Given the description of an element on the screen output the (x, y) to click on. 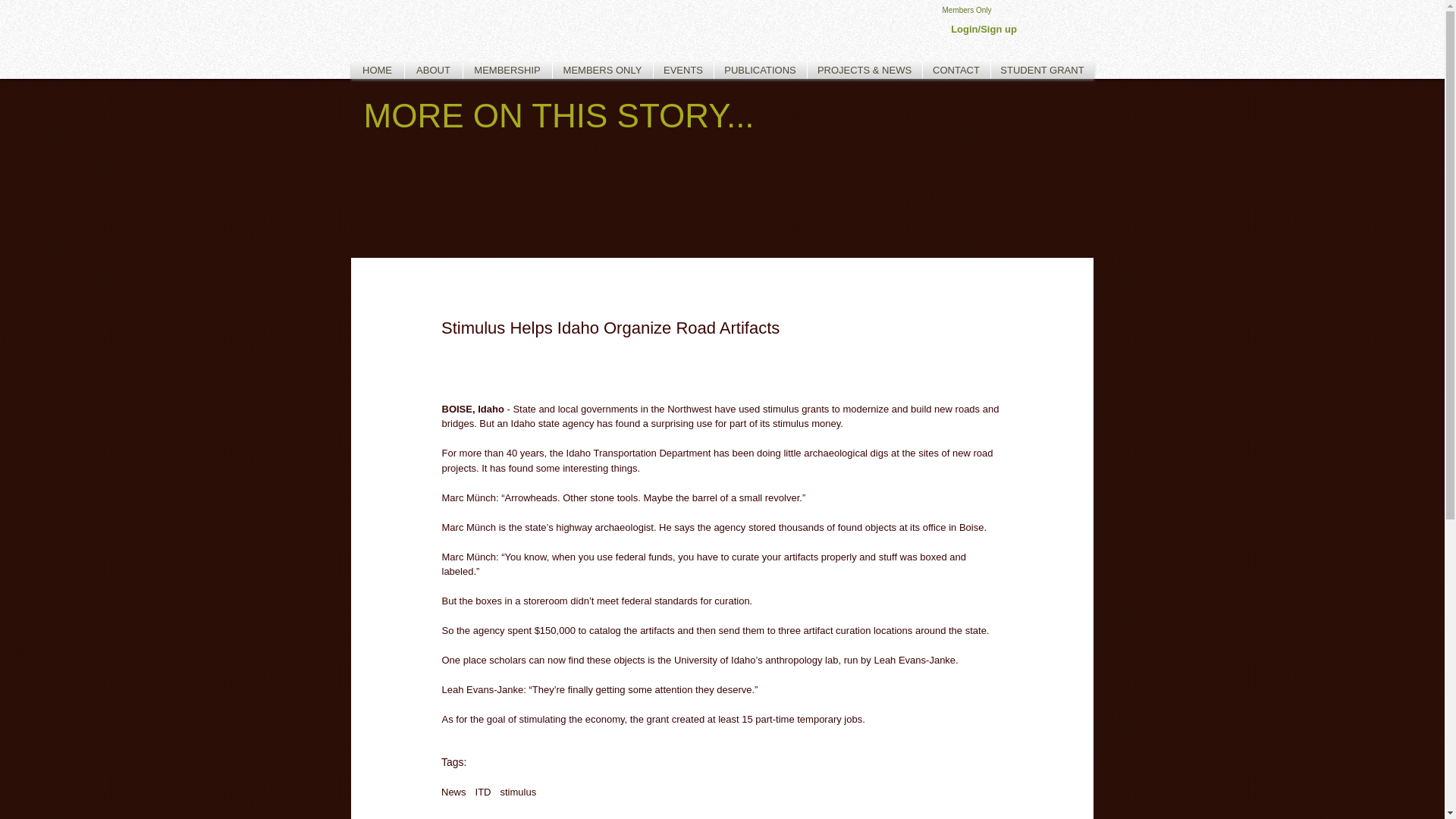
stimulus (517, 790)
ABOUT (433, 70)
HOME (376, 70)
STUDENT GRANT (1041, 70)
MEMBERS ONLY (601, 70)
ITD (484, 790)
News (453, 790)
CONTACT (955, 70)
MEMBERSHIP (507, 70)
EVENTS (683, 70)
PUBLICATIONS (760, 70)
